Given the description of an element on the screen output the (x, y) to click on. 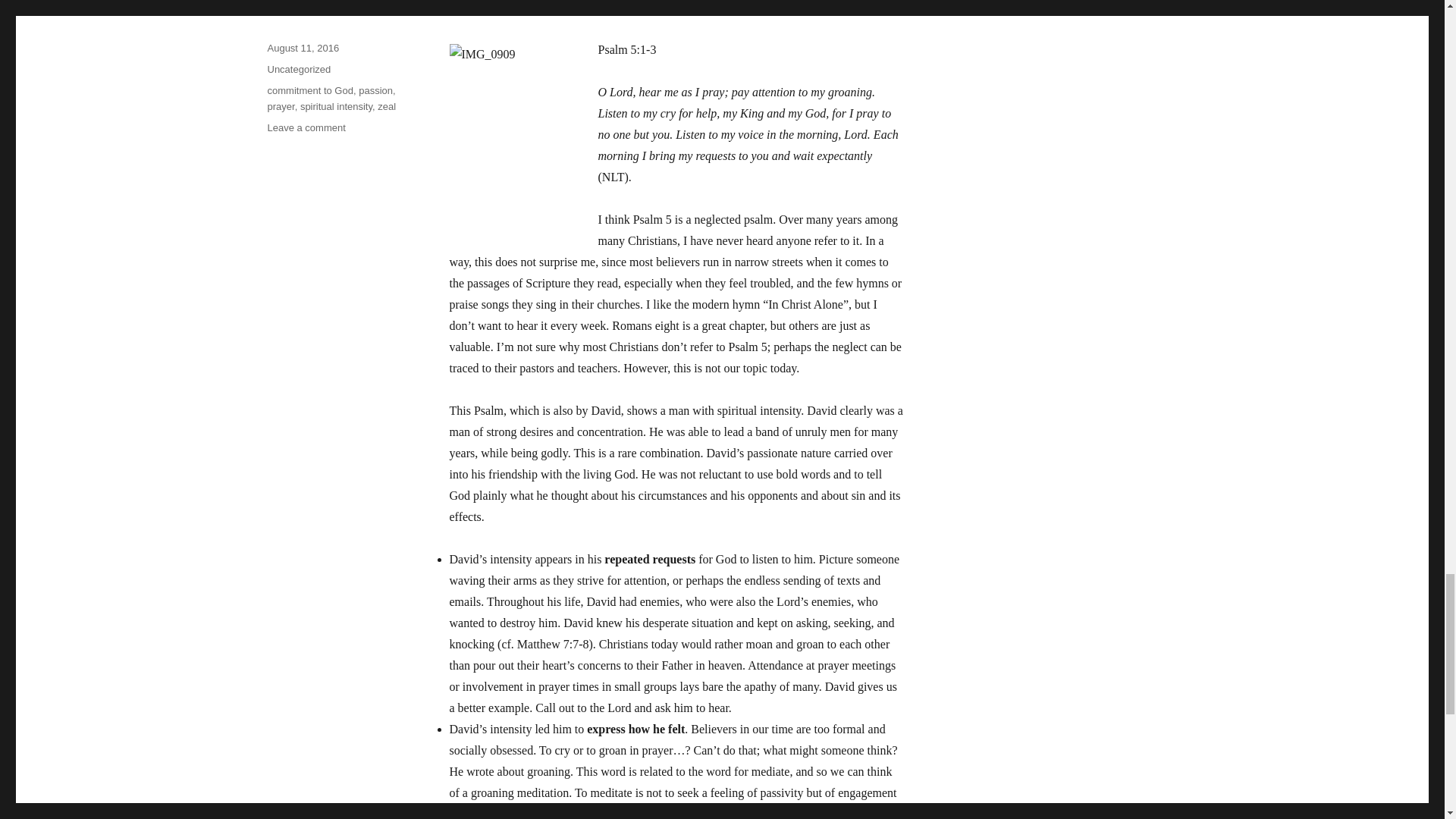
Uncategorized (298, 69)
passion (375, 90)
spiritual intensity (335, 106)
commitment to God (309, 90)
August 11, 2016 (302, 48)
prayer (280, 106)
Intensity (328, 2)
